Given the description of an element on the screen output the (x, y) to click on. 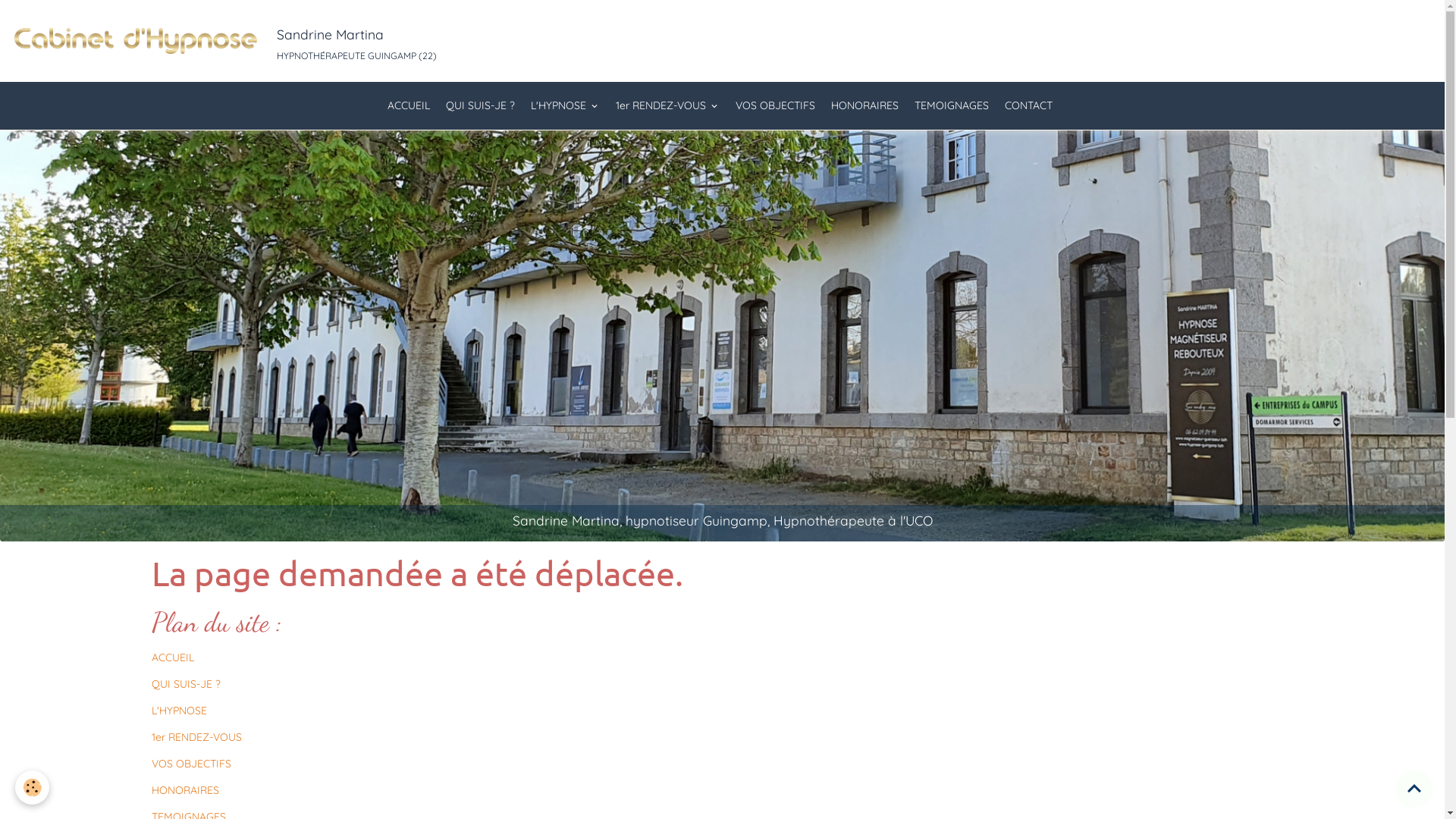
VOS OBJECTIFS Element type: text (774, 105)
QUI SUIS-JE ? Element type: text (479, 105)
QUI SUIS-JE ? Element type: text (185, 683)
TEMOIGNAGES Element type: text (950, 105)
VOS OBJECTIFS Element type: text (191, 763)
HONORAIRES Element type: text (864, 105)
HONORAIRES Element type: text (185, 790)
L'HYPNOSE Element type: text (179, 710)
1er RENDEZ-VOUS Element type: text (666, 105)
1er RENDEZ-VOUS Element type: text (196, 736)
ACCUEIL Element type: text (172, 657)
CONTACT Element type: text (1028, 105)
ACCUEIL Element type: text (408, 105)
L'HYPNOSE Element type: text (564, 105)
